Given the description of an element on the screen output the (x, y) to click on. 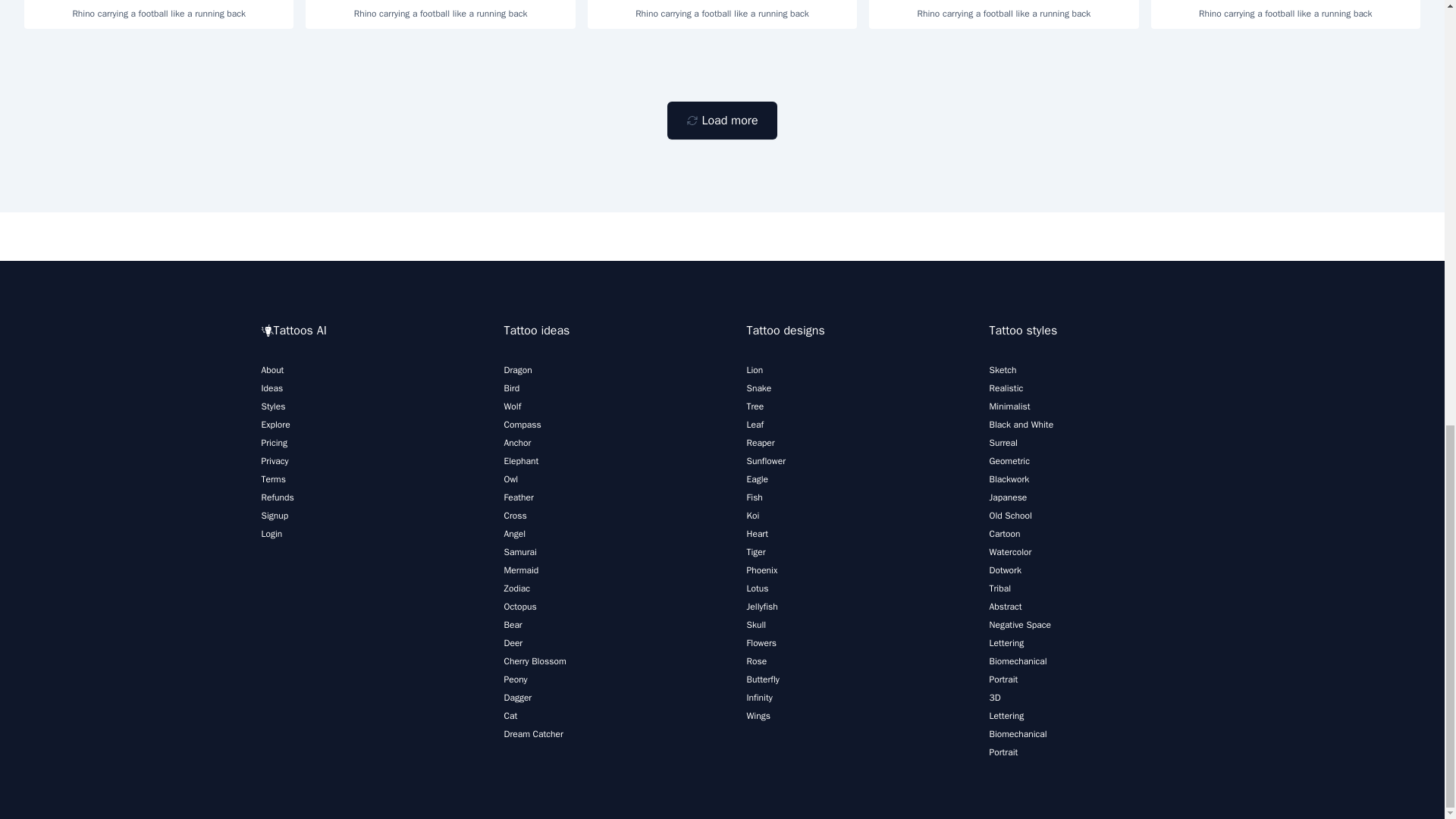
Load more (721, 120)
Rhino carrying a football like a running back (159, 14)
Styles (272, 406)
Wolf (512, 406)
Refunds (277, 497)
Rhino carrying a football like a running back (1286, 14)
Signup (274, 515)
Feather (517, 497)
Ideas (271, 387)
Explore (274, 424)
